Given the description of an element on the screen output the (x, y) to click on. 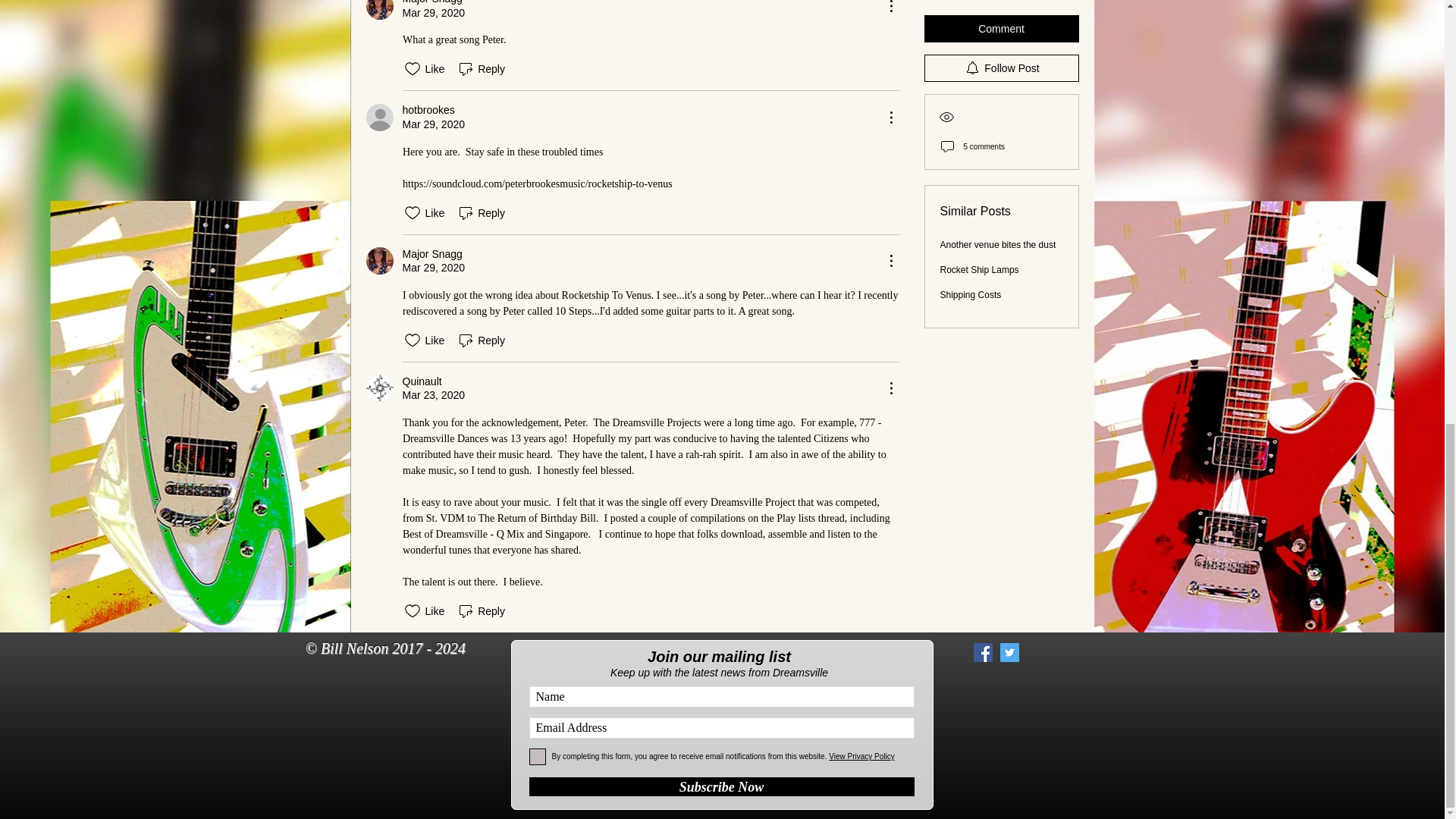
Reply (481, 212)
Reply (481, 68)
hotbrookes (427, 110)
Major Snagg (431, 2)
Major Snagg (379, 260)
Quinault (379, 388)
Major Snagg (431, 254)
Major Snagg (379, 9)
